Given the description of an element on the screen output the (x, y) to click on. 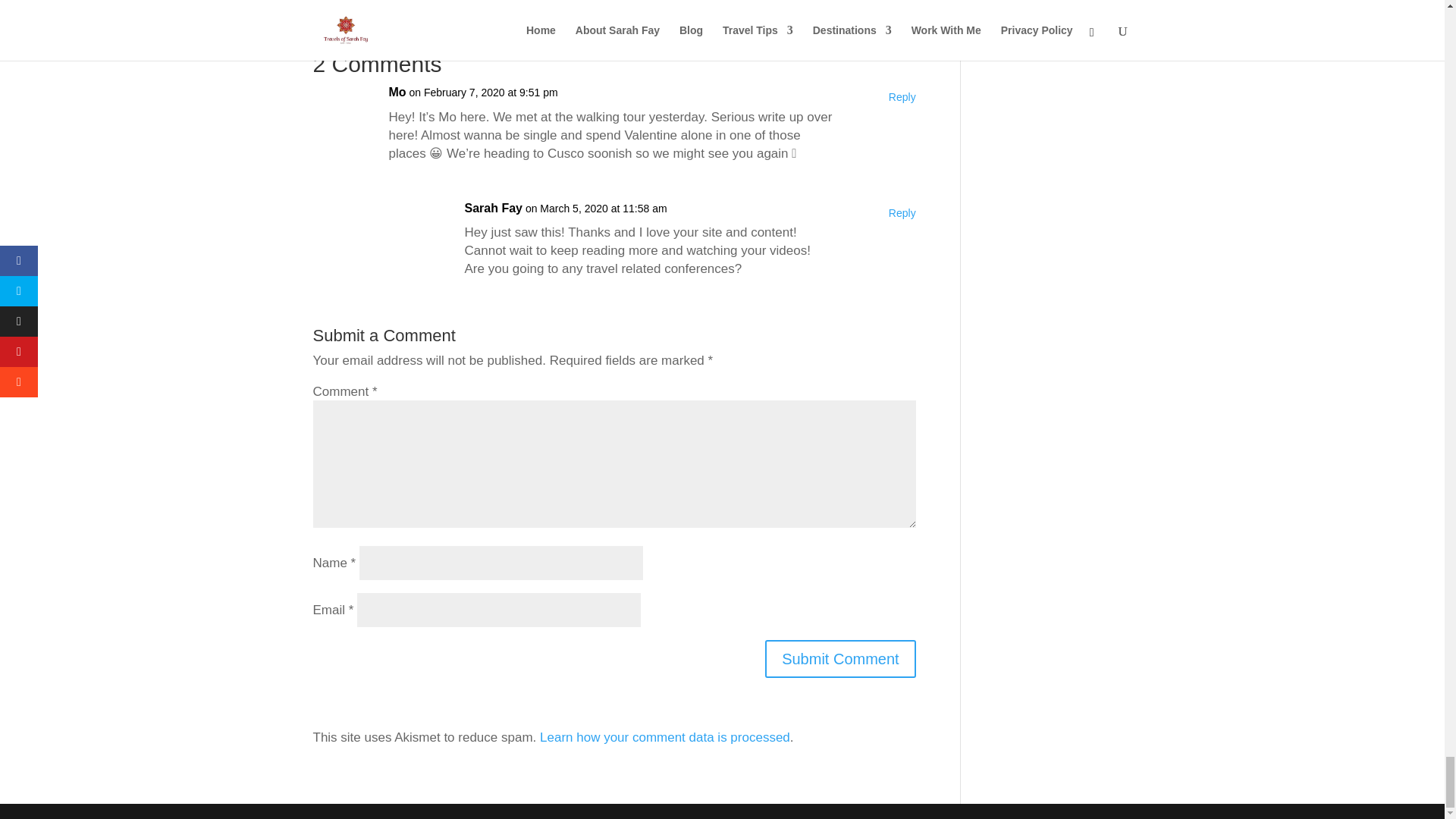
Submit Comment (840, 658)
